Given the description of an element on the screen output the (x, y) to click on. 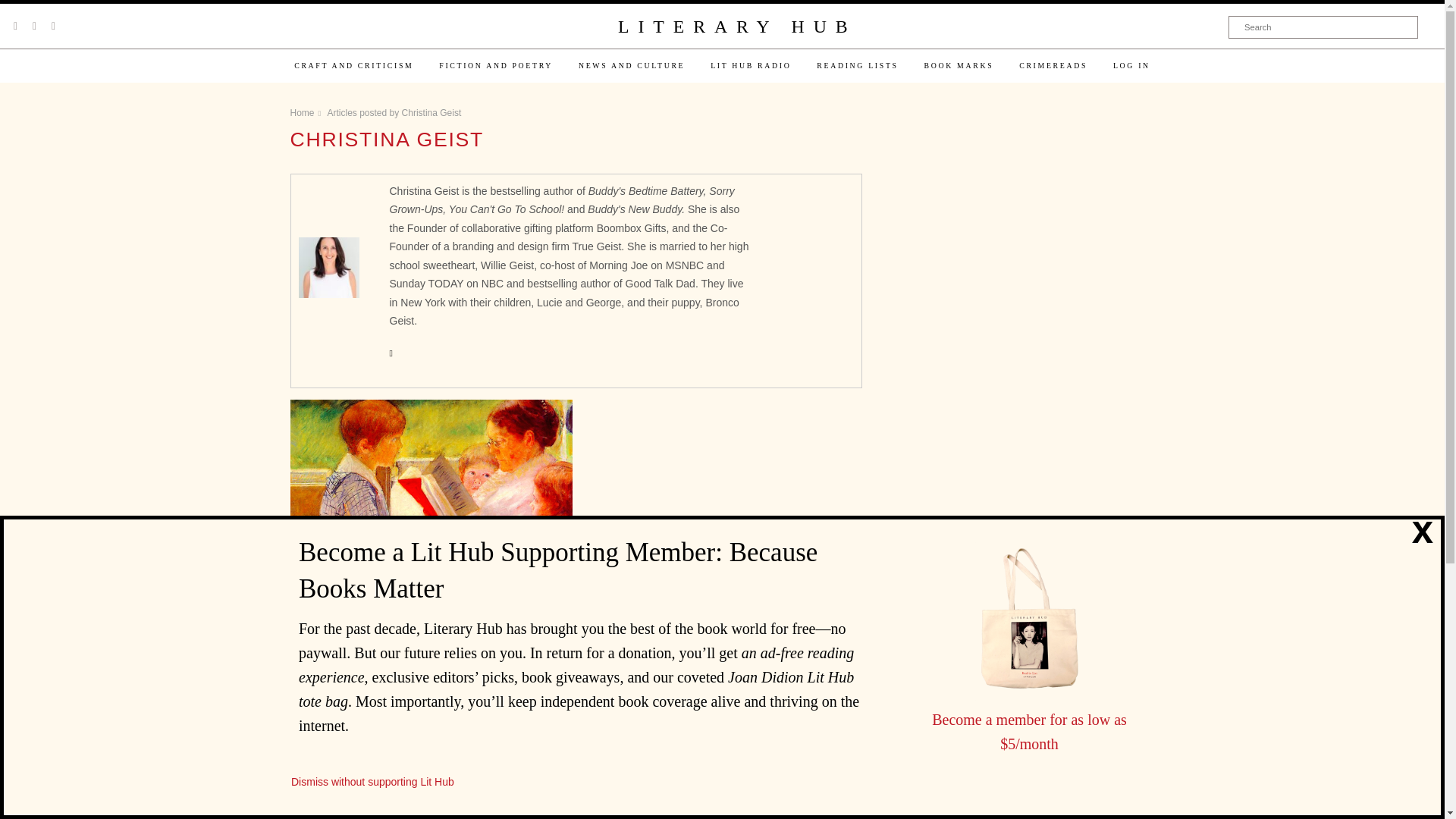
NEWS AND CULTURE (631, 65)
FICTION AND POETRY (496, 65)
Subscribe to posts (398, 768)
Search (1323, 26)
CRAFT AND CRITICISM (353, 65)
Instagram (52, 25)
Facebook (34, 25)
Twitter (15, 25)
LITERARY HUB (736, 26)
